Given the description of an element on the screen output the (x, y) to click on. 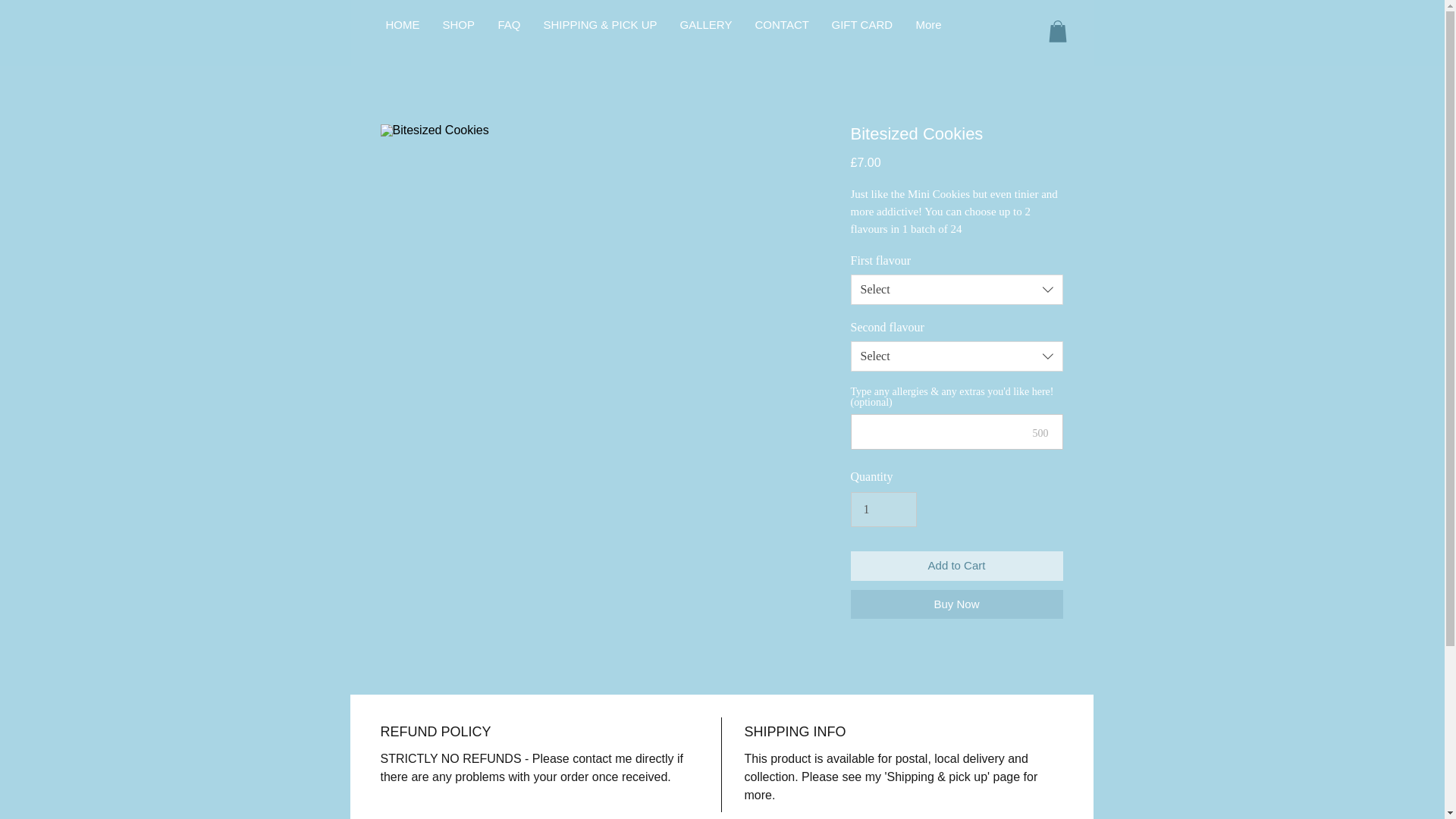
FAQ (509, 24)
SHOP (458, 24)
GALLERY (706, 24)
Add to Cart (956, 565)
GIFT CARD (862, 24)
CONTACT (780, 24)
HOME (402, 24)
Buy Now (956, 604)
Select (956, 289)
Select (956, 356)
